Given the description of an element on the screen output the (x, y) to click on. 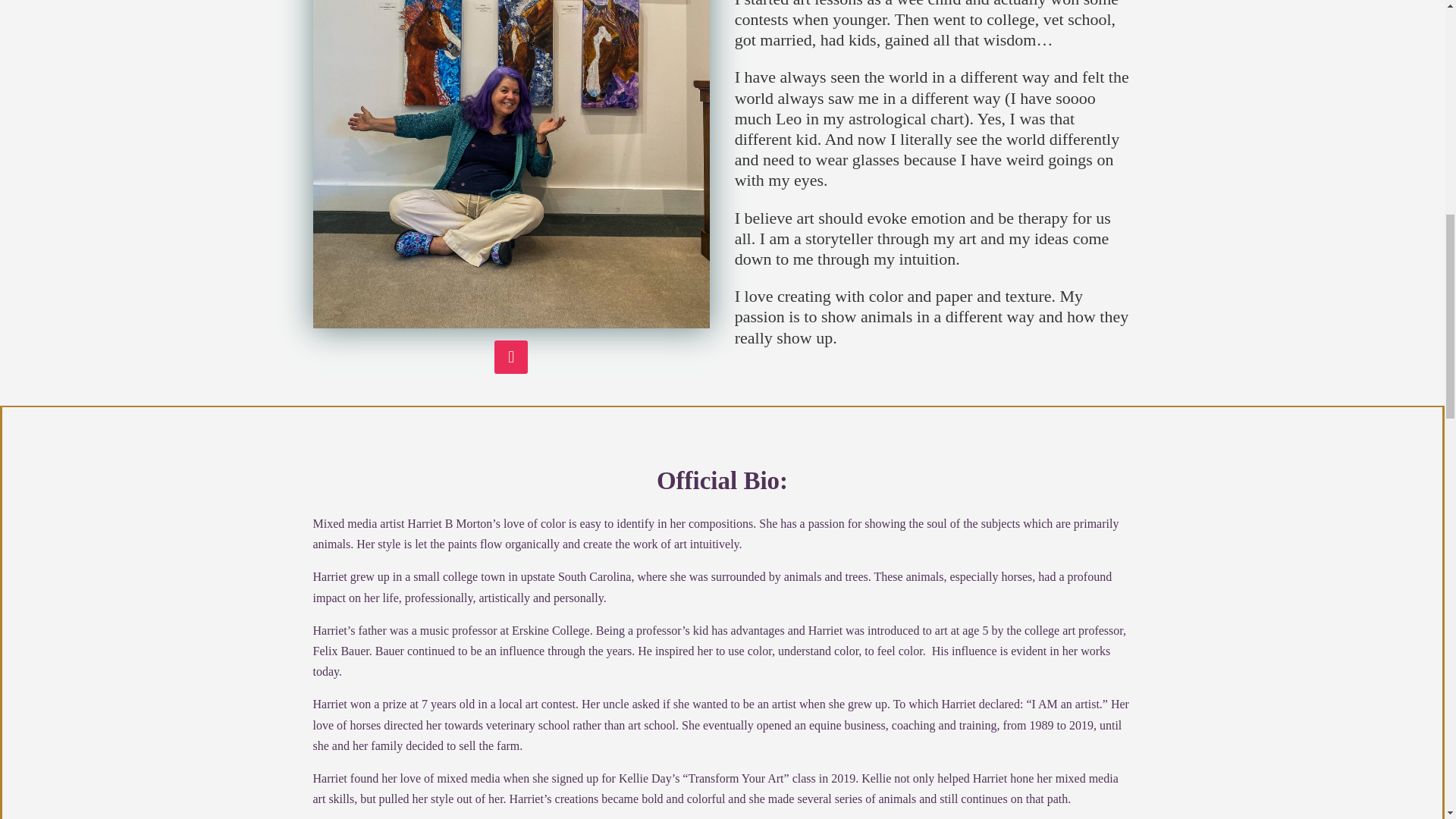
HarrietESPGallery (511, 164)
Follow on Instagram (511, 356)
